Given the description of an element on the screen output the (x, y) to click on. 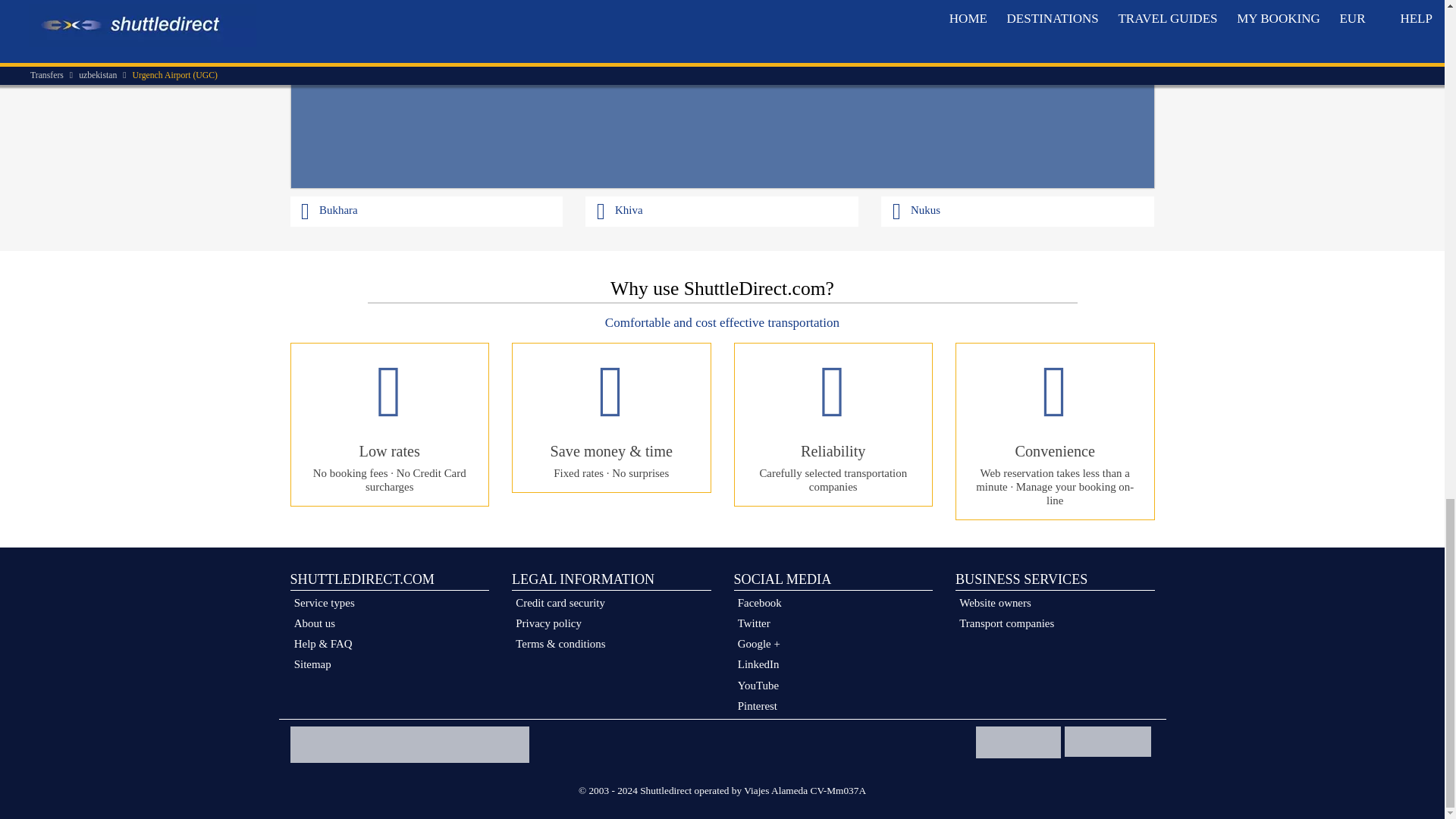
Nukus (1017, 210)
service types (389, 602)
Bukhara (426, 210)
about us (389, 623)
Sitemap (389, 664)
Khiva (721, 210)
